Given the description of an element on the screen output the (x, y) to click on. 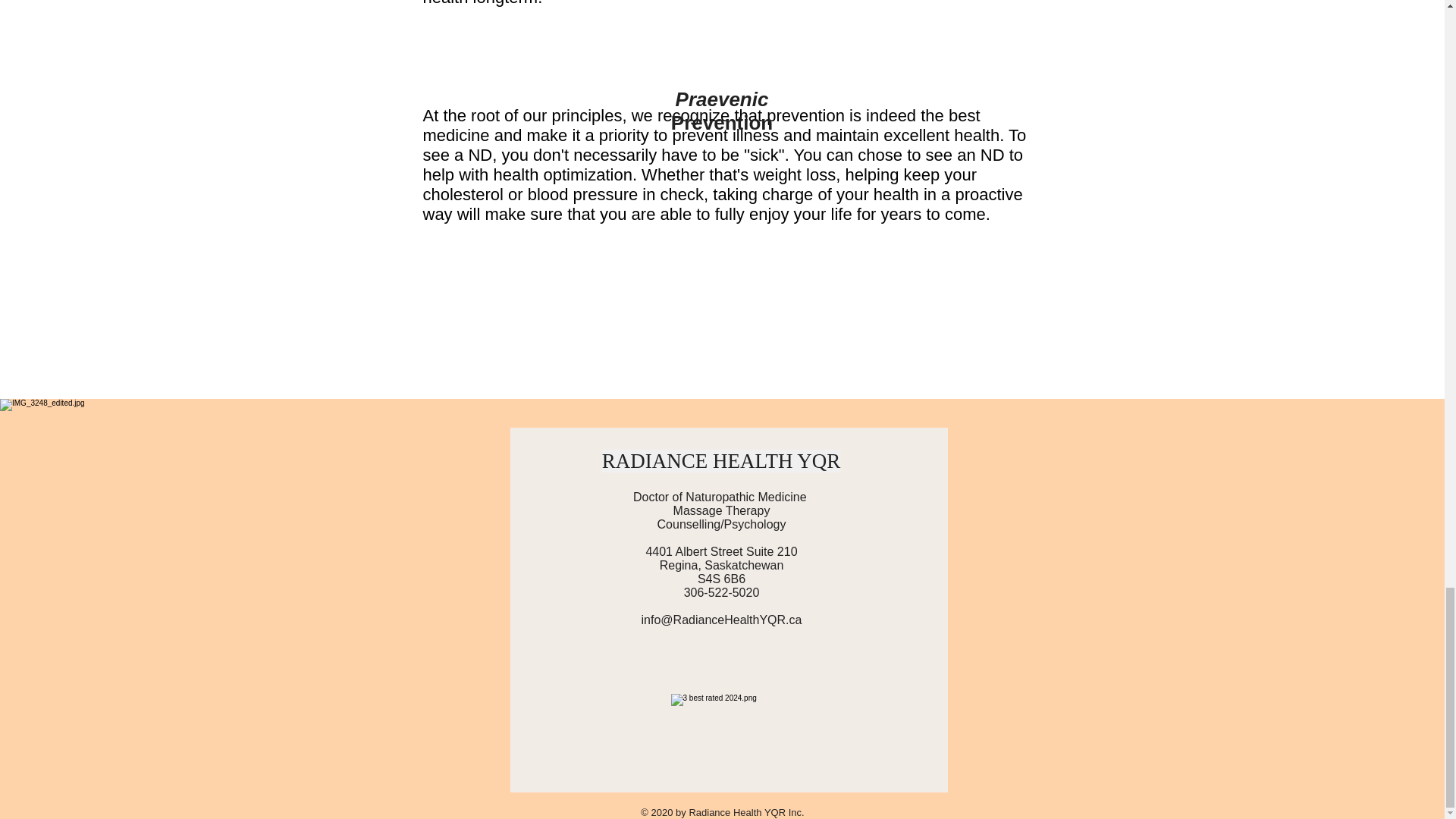
Doctor of Naturopathic Medicine  (721, 496)
RADIANCE HEALTH YQR (721, 460)
